Given the description of an element on the screen output the (x, y) to click on. 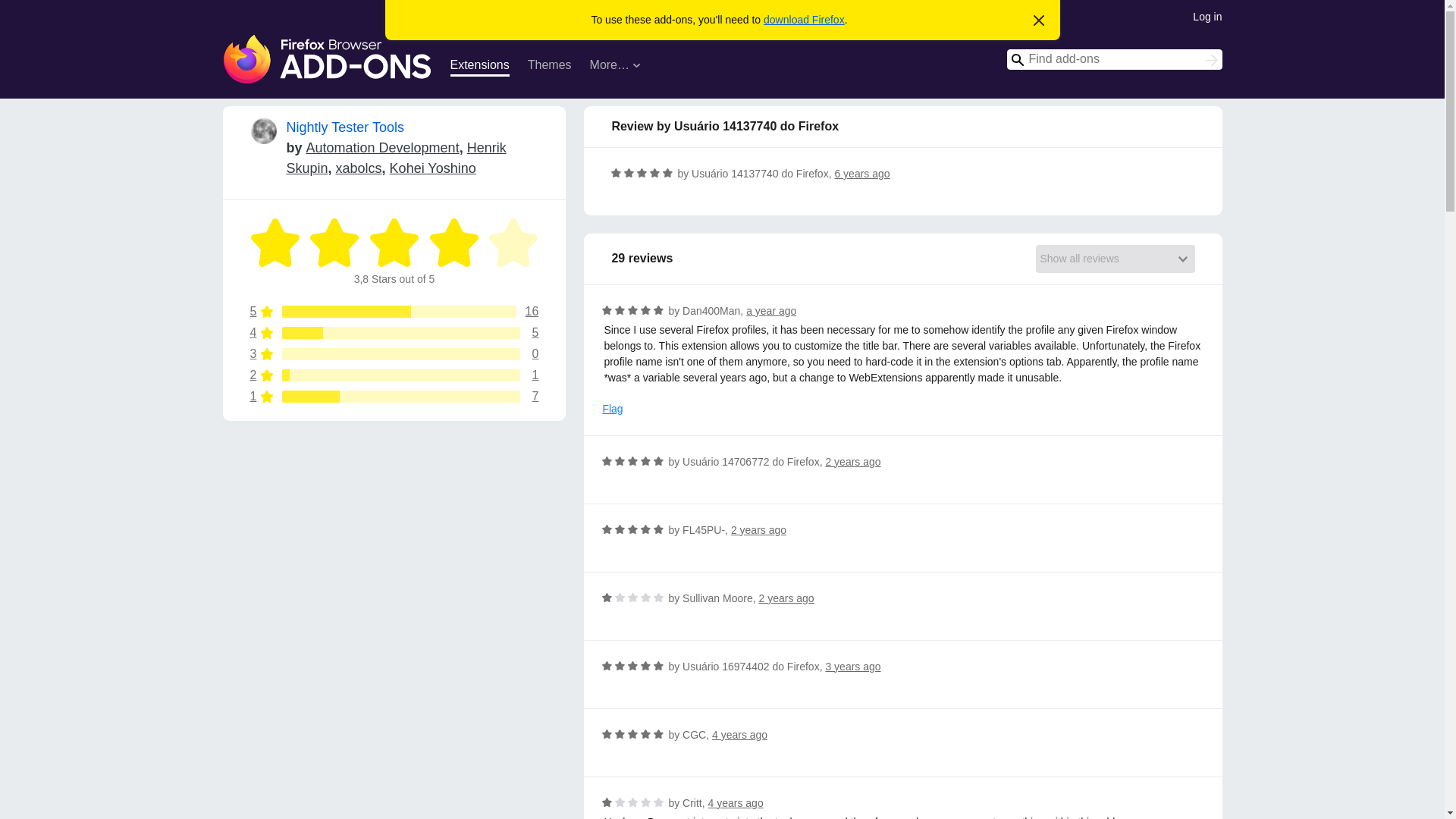
4 years ago (739, 734)
Rated 3,8 out of 5 (394, 354)
Read the 1 two-star review (394, 242)
Read all 7 one-star reviews (394, 375)
Rated 5 out of 5 (394, 375)
There are no three-star reviews (394, 396)
4 years ago (394, 396)
Kohei Yoshino (641, 172)
Rated 5 out of 5 (394, 354)
xabolcs (394, 311)
